Given the description of an element on the screen output the (x, y) to click on. 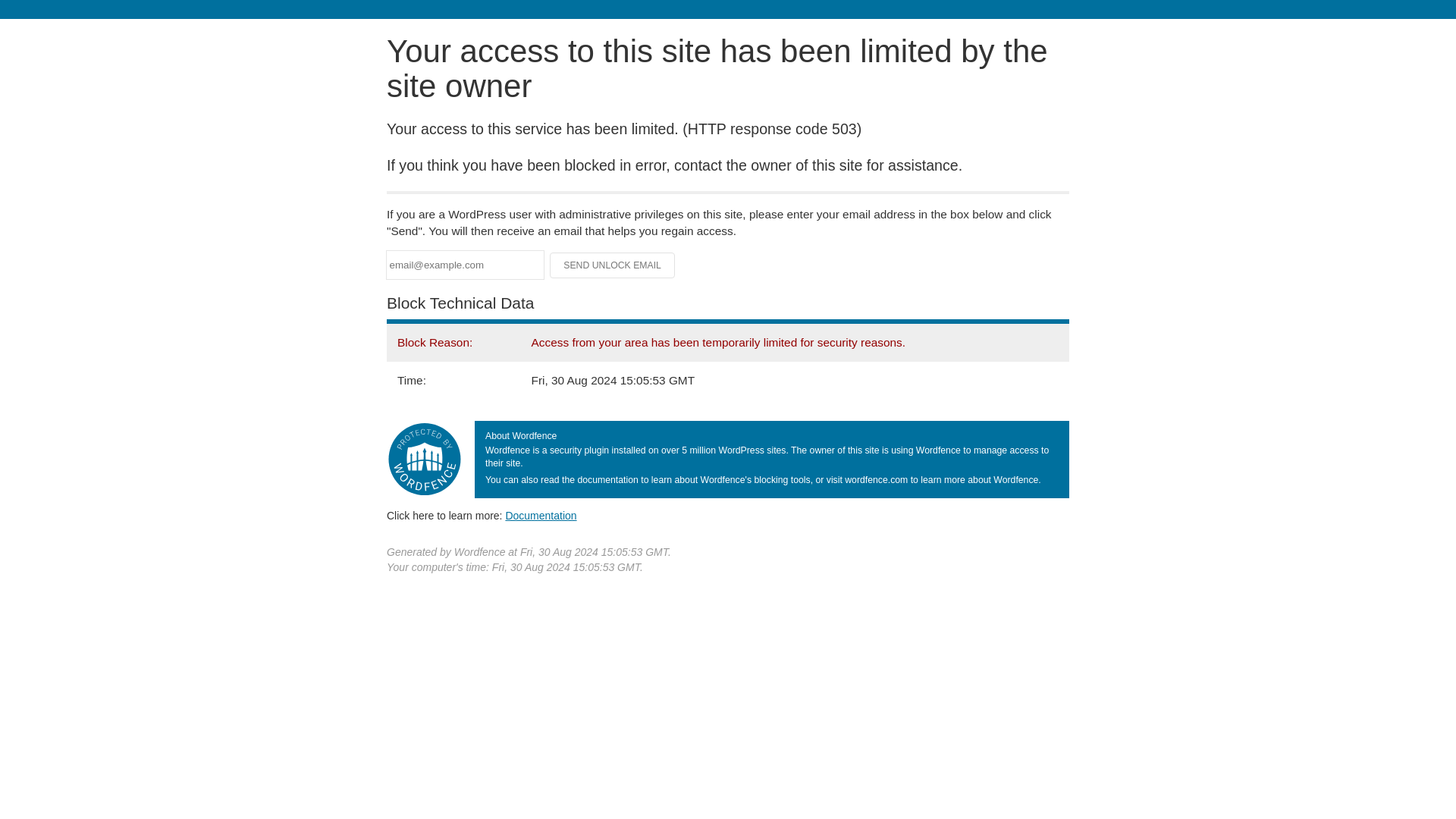
Send Unlock Email (612, 265)
Documentation (540, 515)
Send Unlock Email (612, 265)
